Given the description of an element on the screen output the (x, y) to click on. 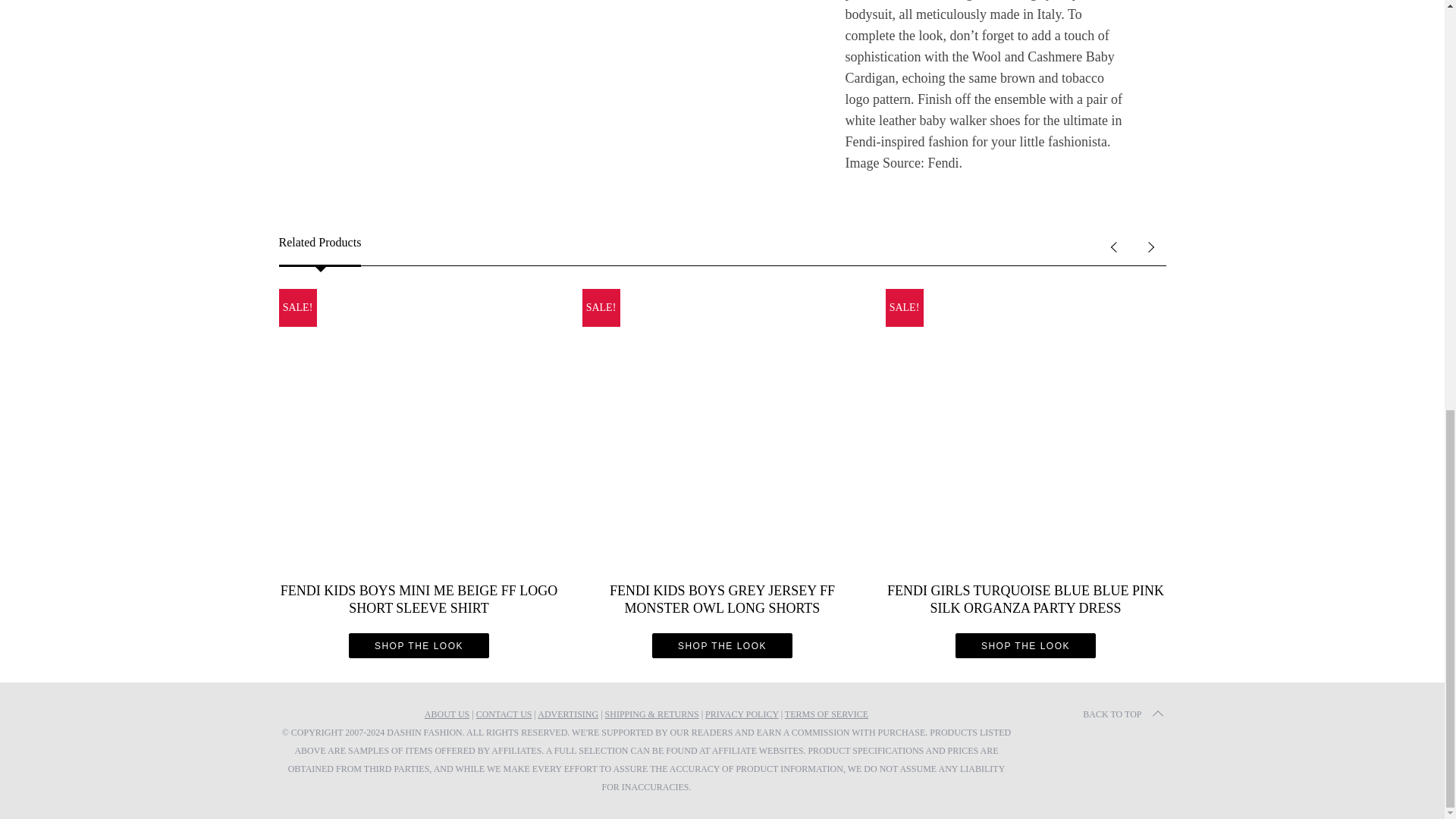
Fendi Kids Baby Brown Patchwork Sweater Knit Cashmere (532, 86)
